Given the description of an element on the screen output the (x, y) to click on. 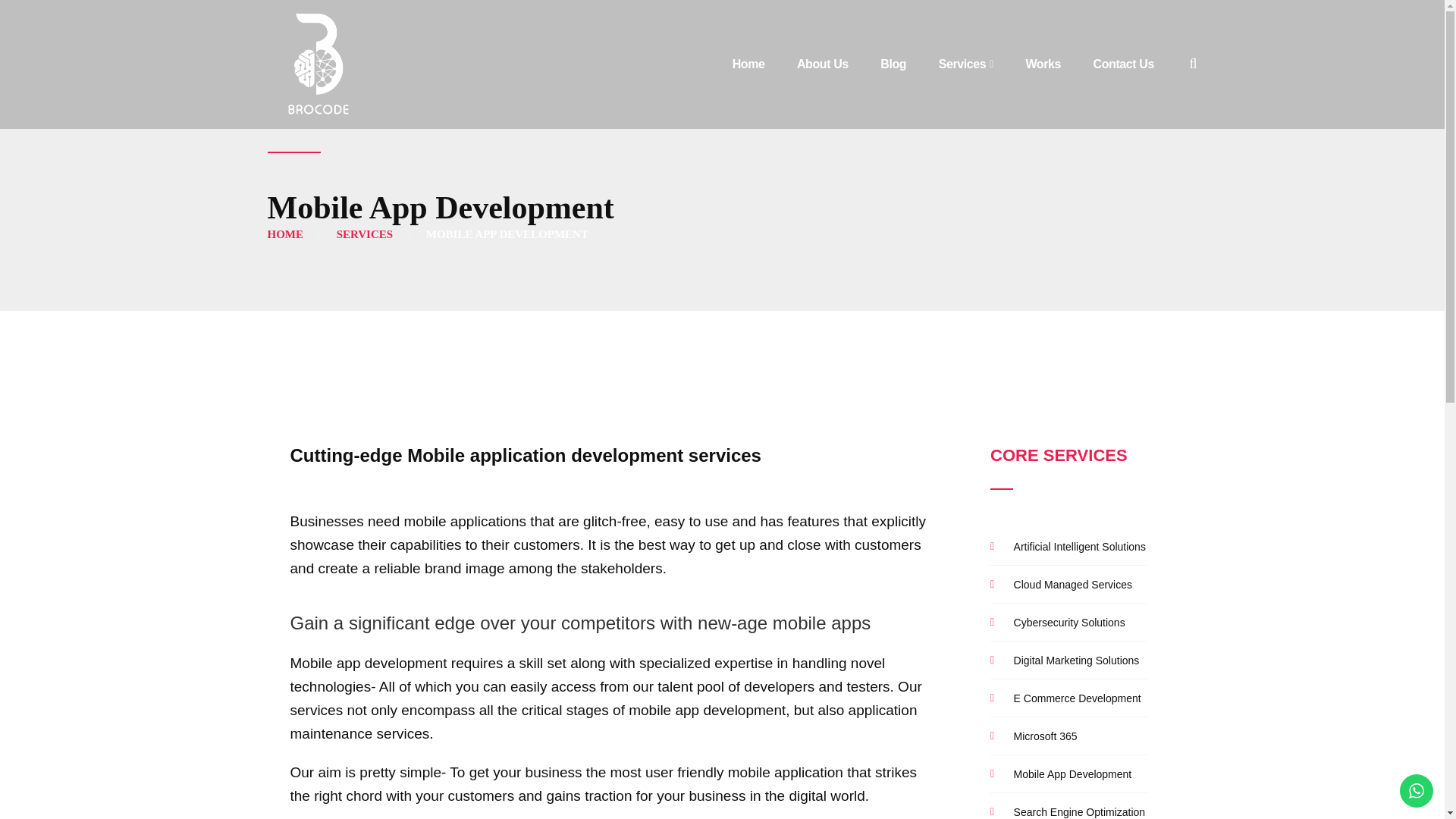
WhatsApp us (1415, 790)
Blog (892, 63)
Home (748, 63)
About Us (822, 63)
Contact Us (1123, 63)
Works (1043, 63)
Services (965, 63)
